Given the description of an element on the screen output the (x, y) to click on. 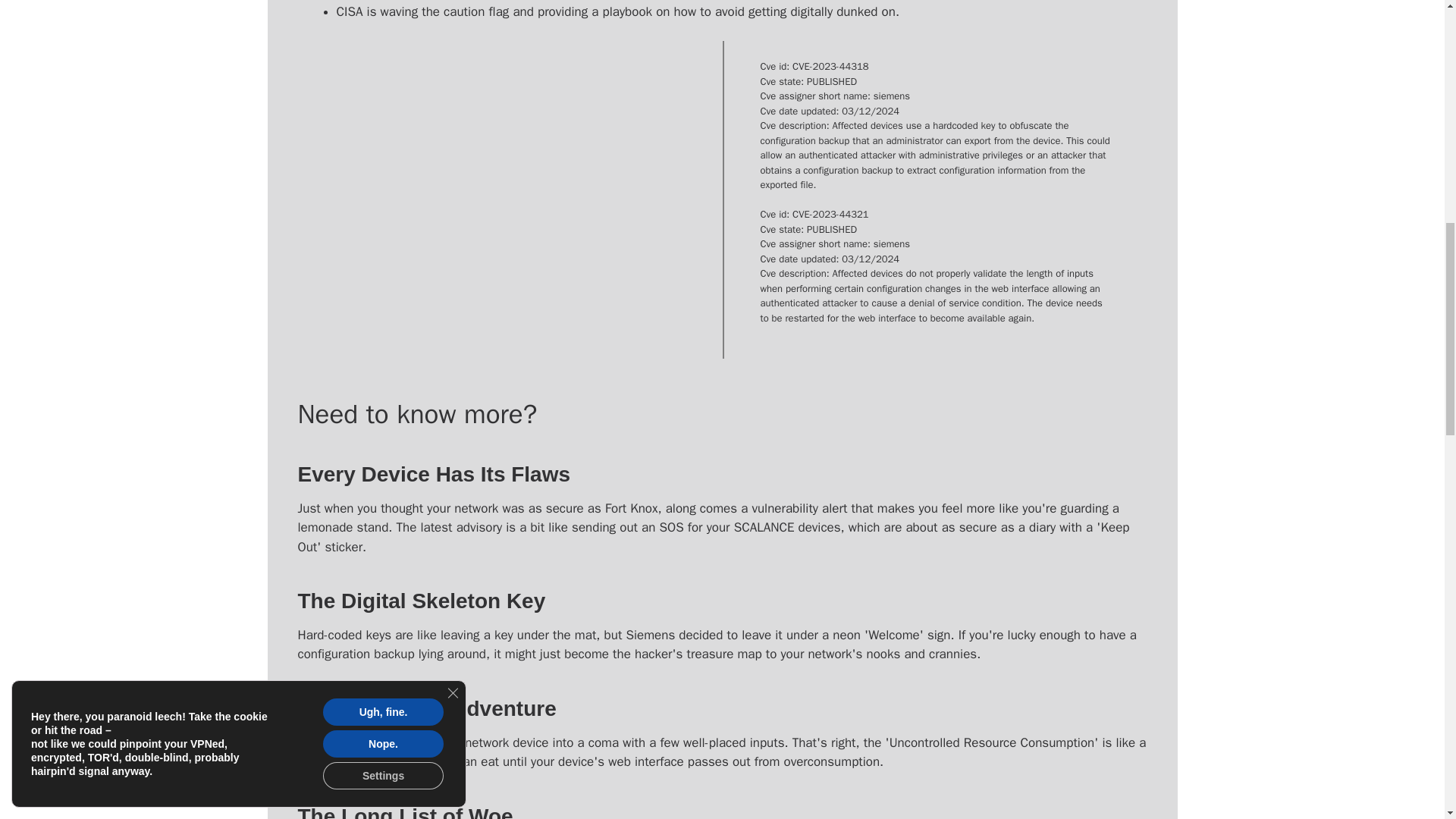
Scroll back to top (1406, 720)
